Given the description of an element on the screen output the (x, y) to click on. 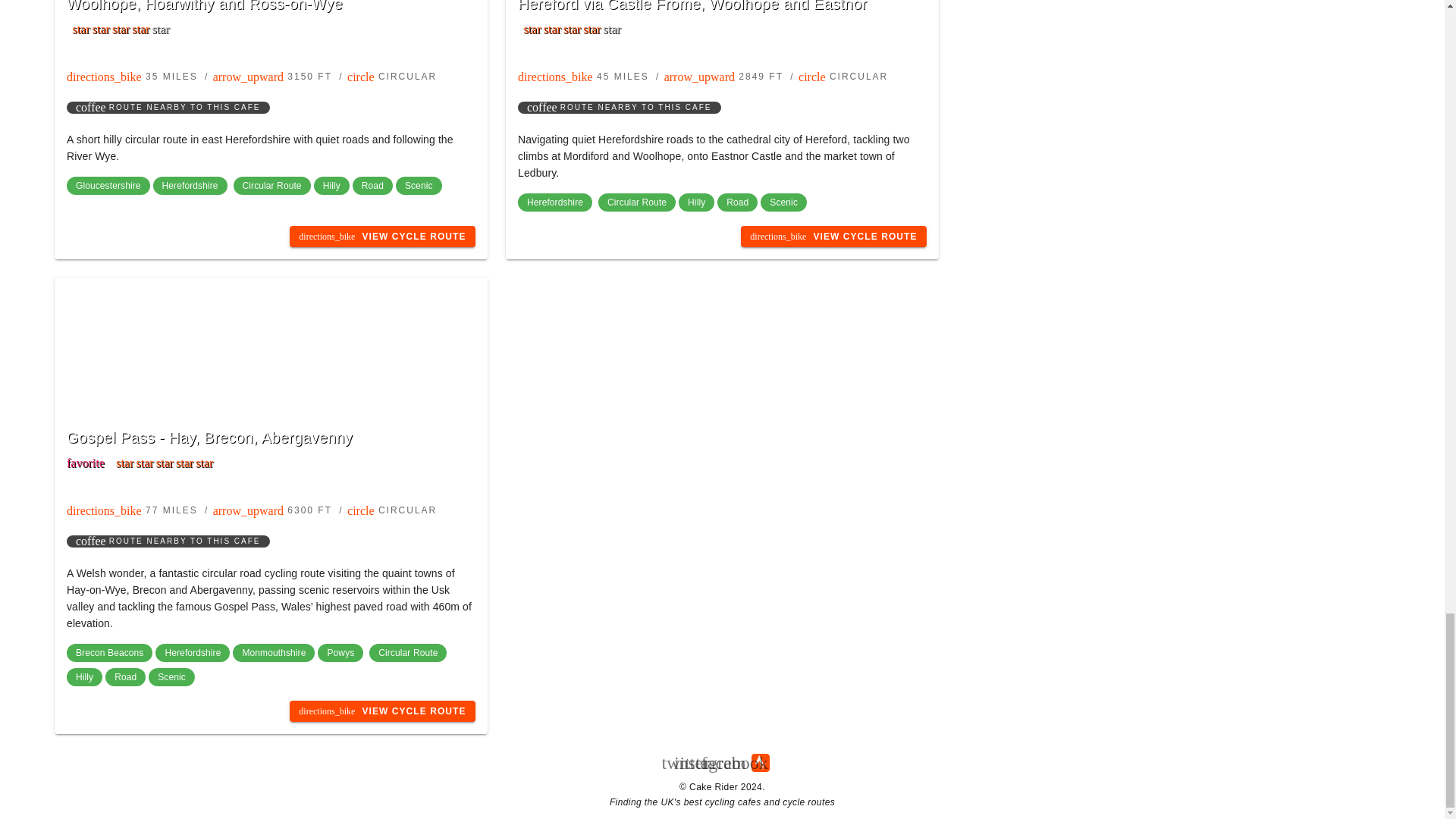
facebook (734, 762)
twitter (685, 762)
instagram (709, 762)
